Given the description of an element on the screen output the (x, y) to click on. 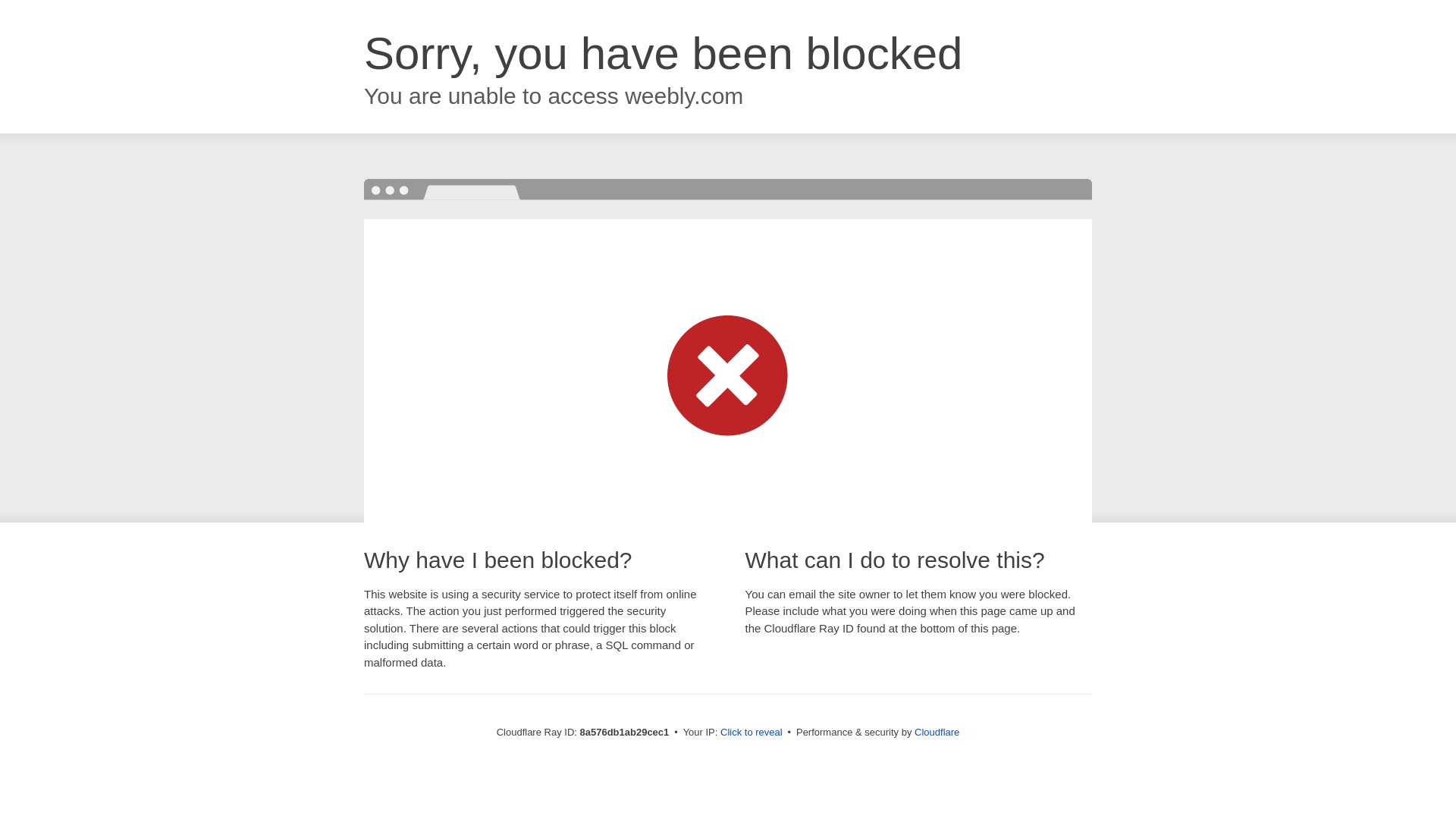
Click to reveal (751, 732)
Cloudflare (936, 731)
